Given the description of an element on the screen output the (x, y) to click on. 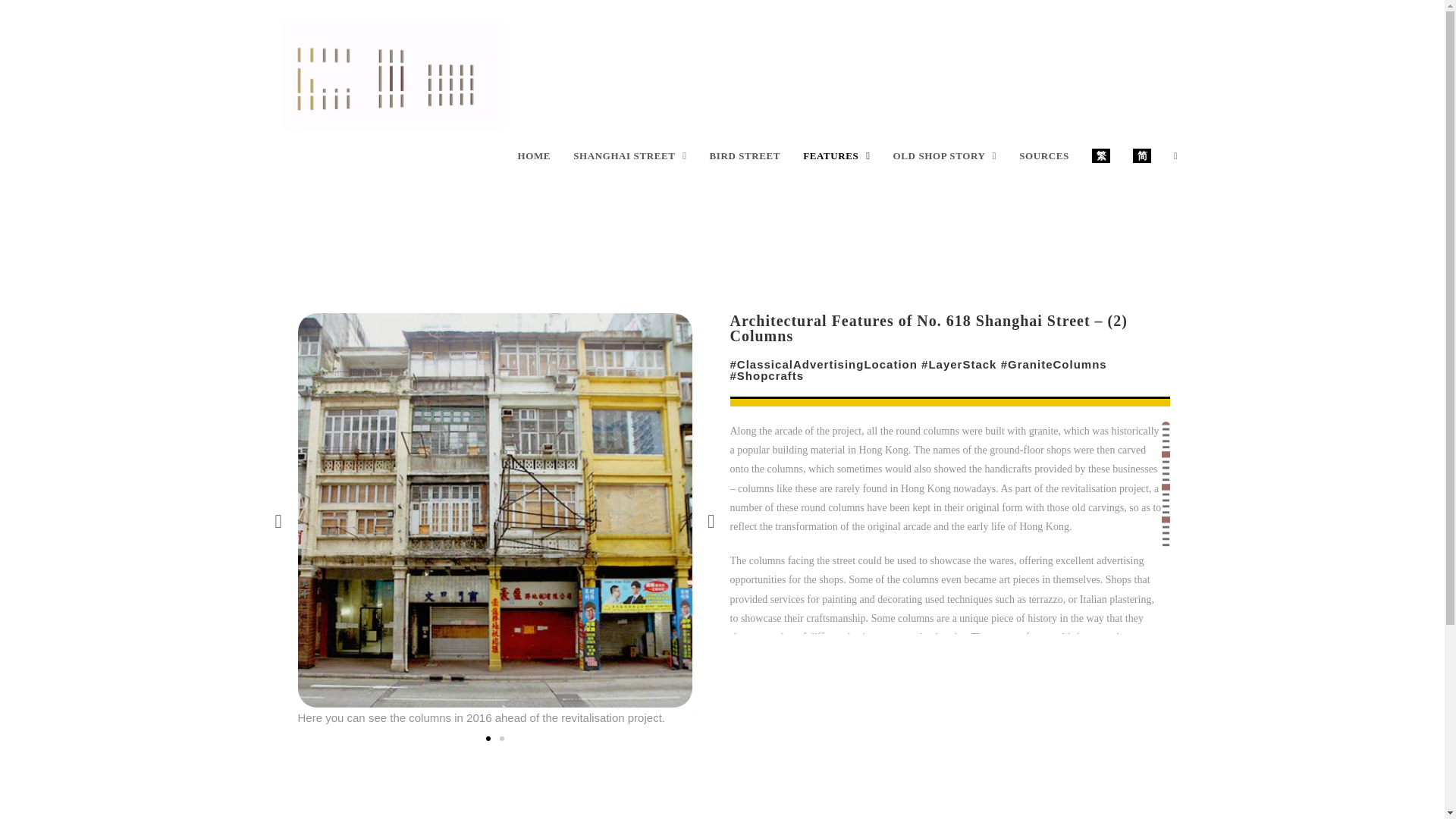
BIRD STREET (744, 155)
OLD SHOP STORY (945, 155)
SHANGHAI STREET (629, 155)
FEATURES (836, 155)
SOURCES (1043, 155)
HOME (534, 155)
